Given the description of an element on the screen output the (x, y) to click on. 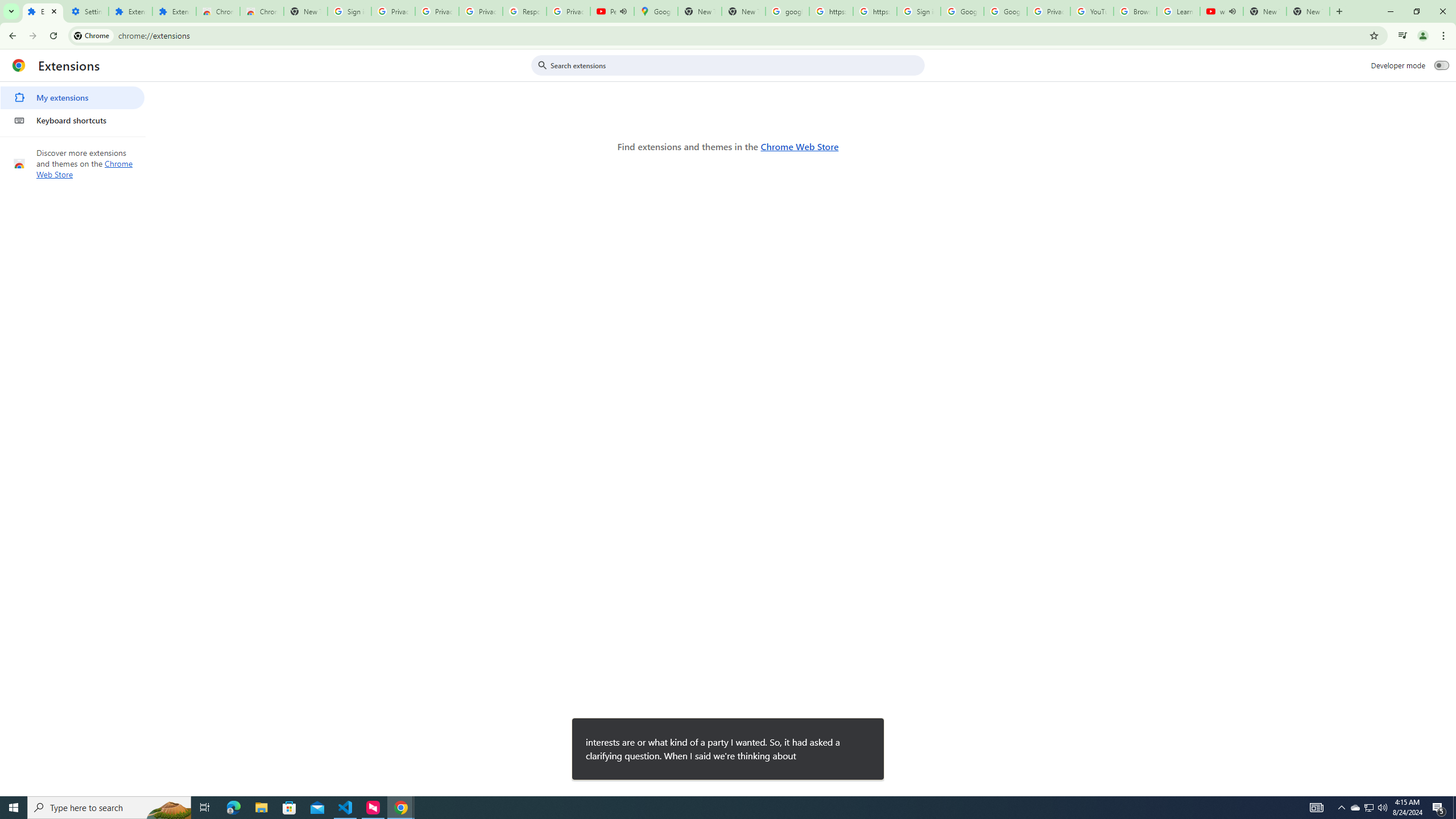
Browse Chrome as a guest - Computer - Google Chrome Help (1134, 11)
Search extensions (735, 65)
Personalized AI for you | Gemini - YouTube - Audio playing (612, 11)
Extensions (130, 11)
AutomationID: sectionMenu (72, 106)
https://scholar.google.com/ (874, 11)
